Given the description of an element on the screen output the (x, y) to click on. 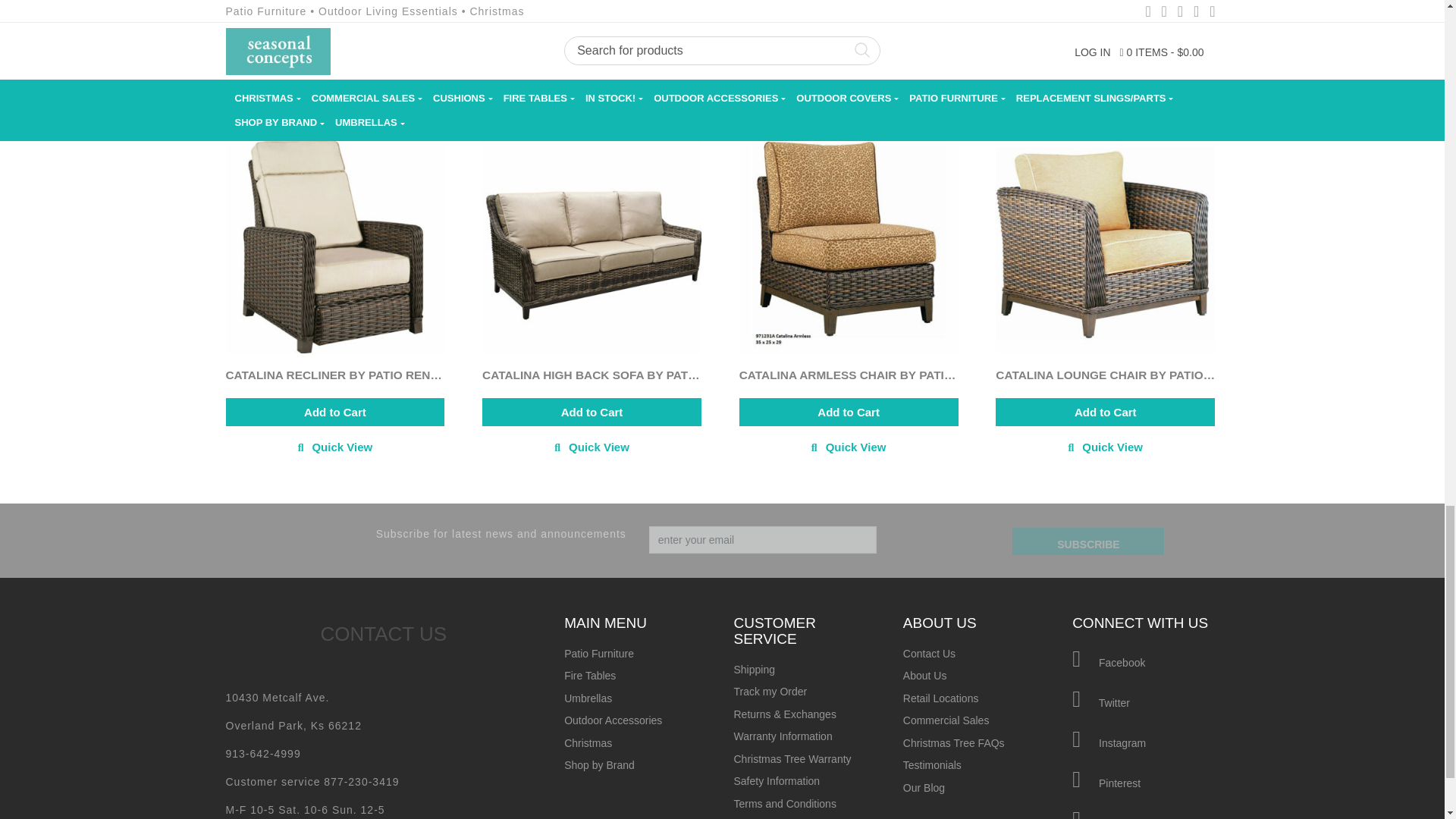
subscribe (1087, 541)
